Given the description of an element on the screen output the (x, y) to click on. 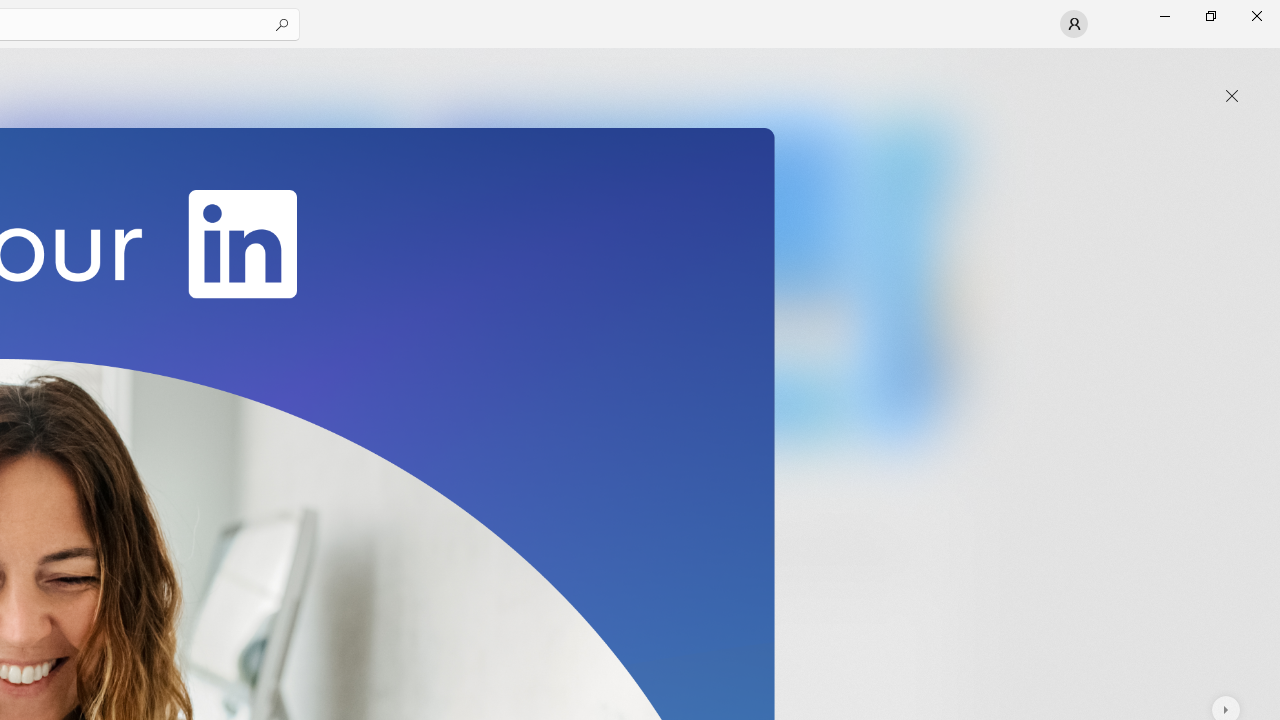
Close Microsoft Store (1256, 15)
Screenshot 3 (636, 279)
Minimize Microsoft Store (1164, 15)
close popup window (1232, 95)
Restore Microsoft Store (1210, 15)
See all (924, 72)
Screenshot 4 (912, 279)
User profile (1073, 24)
